Given the description of an element on the screen output the (x, y) to click on. 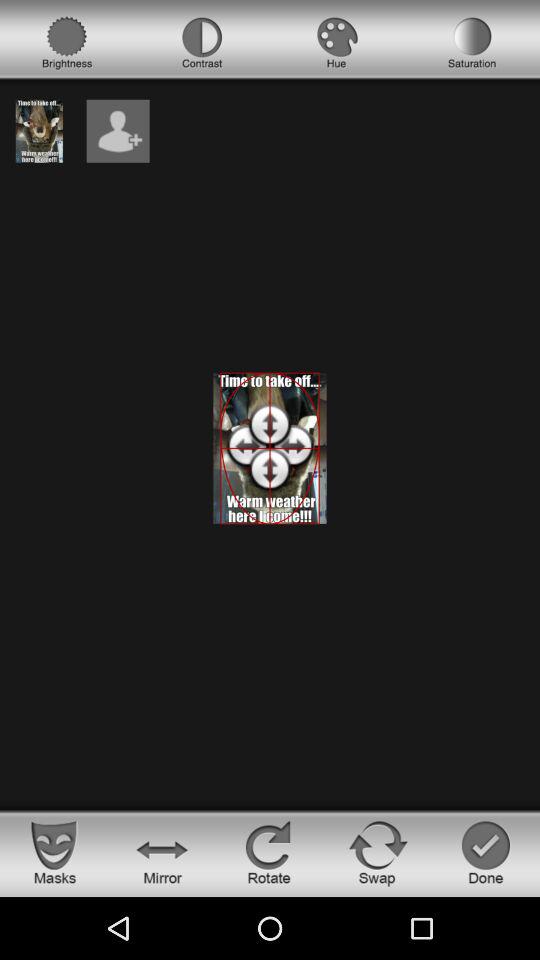
adjust contrast (202, 43)
